Given the description of an element on the screen output the (x, y) to click on. 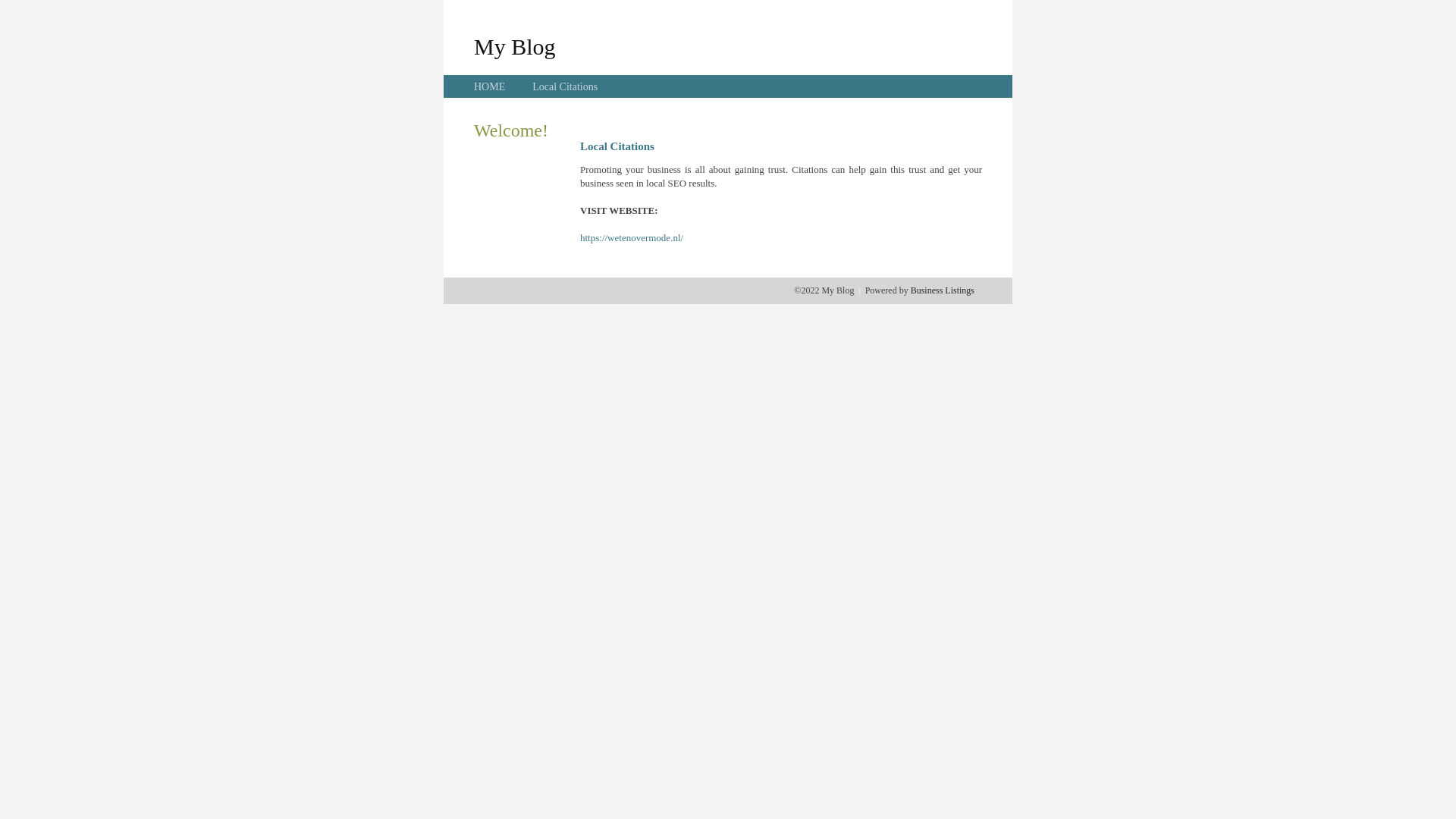
Business Listings Element type: text (942, 290)
Local Citations Element type: text (564, 86)
HOME Element type: text (489, 86)
My Blog Element type: text (514, 46)
https://wetenovermode.nl/ Element type: text (631, 237)
